Given the description of an element on the screen output the (x, y) to click on. 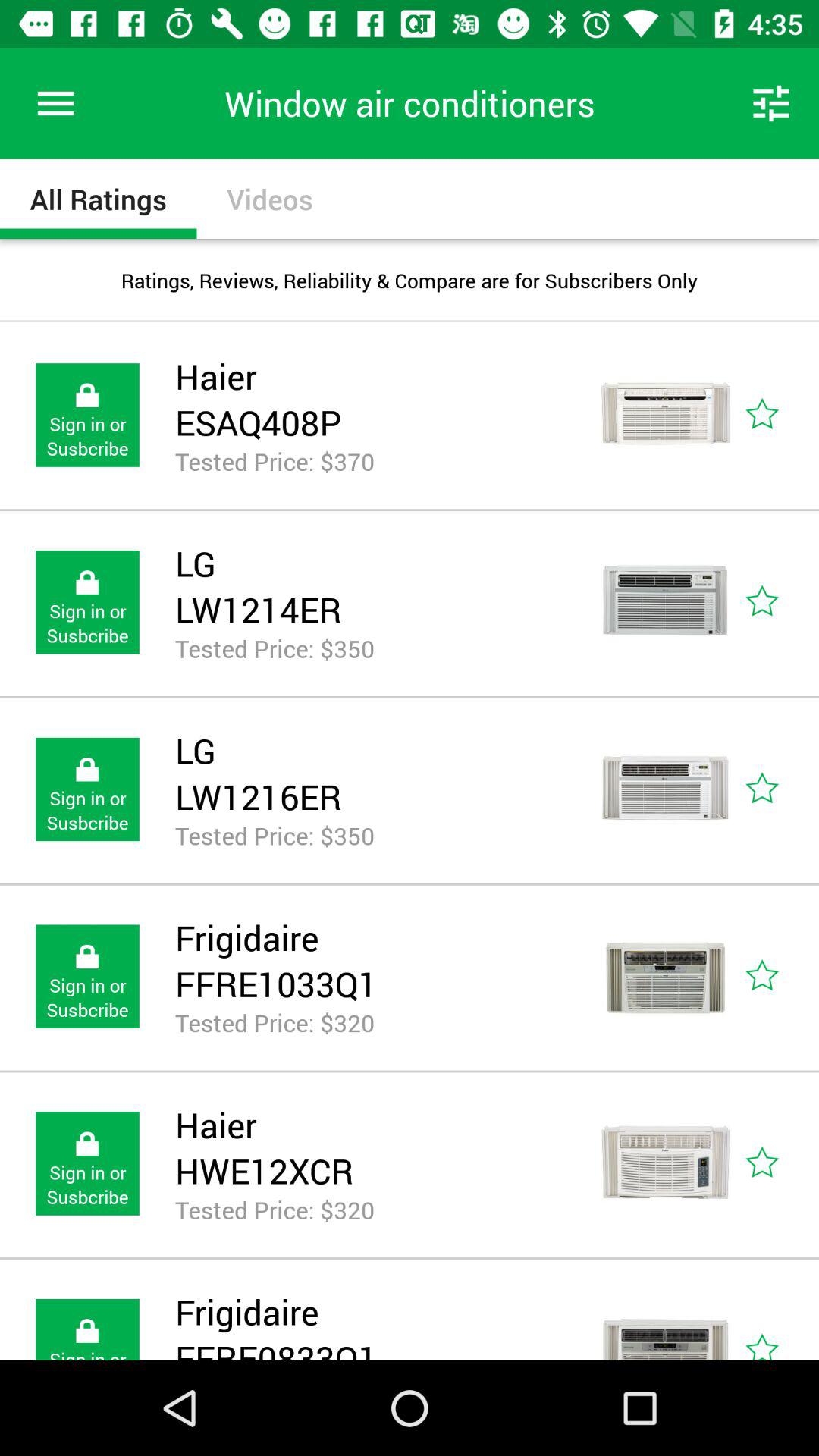
turn off icon to the left of window air conditioners (55, 103)
